Given the description of an element on the screen output the (x, y) to click on. 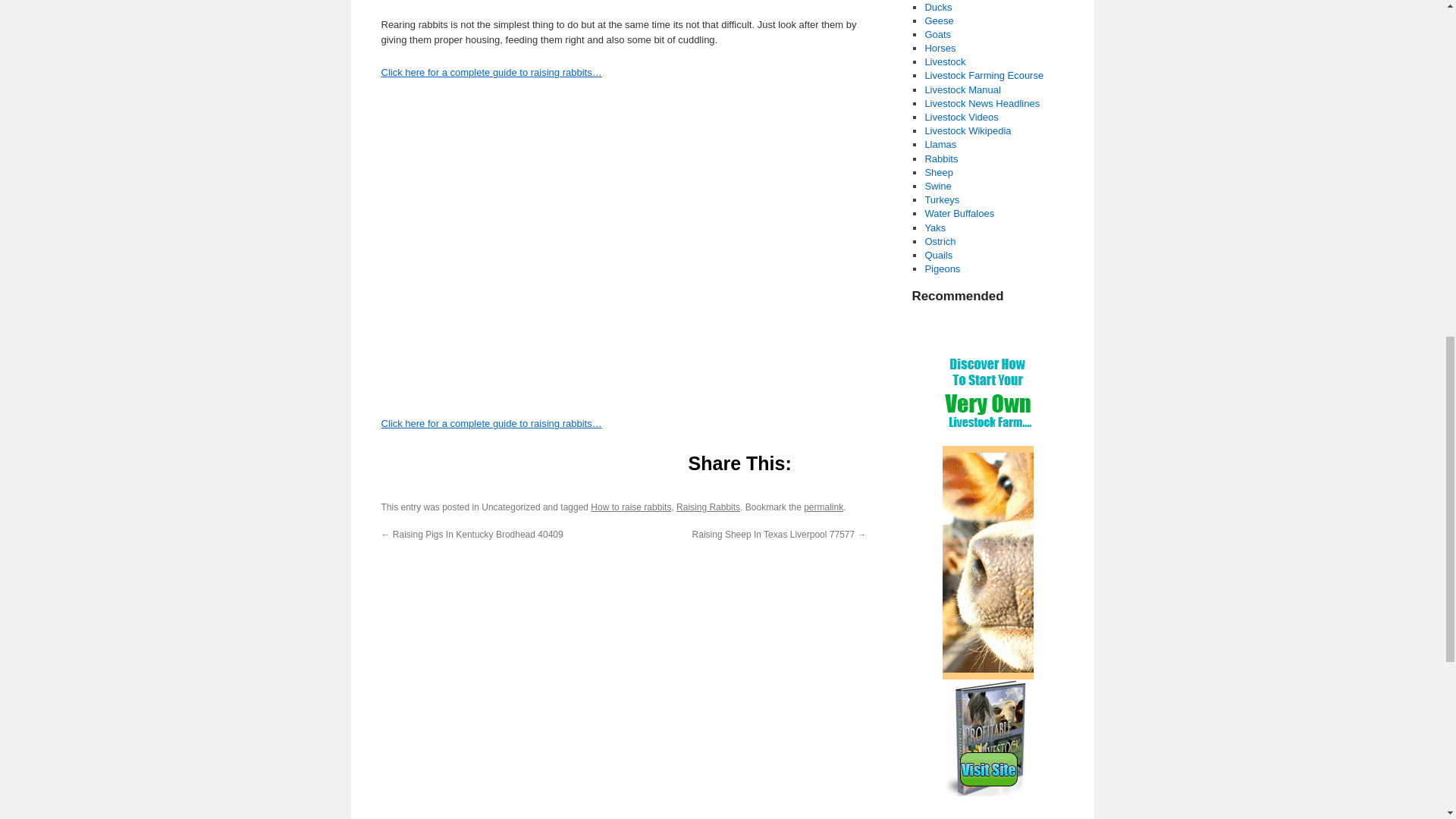
permalink (823, 507)
How to raise rabbits (631, 507)
Raising Rabbits (708, 507)
